Given the description of an element on the screen output the (x, y) to click on. 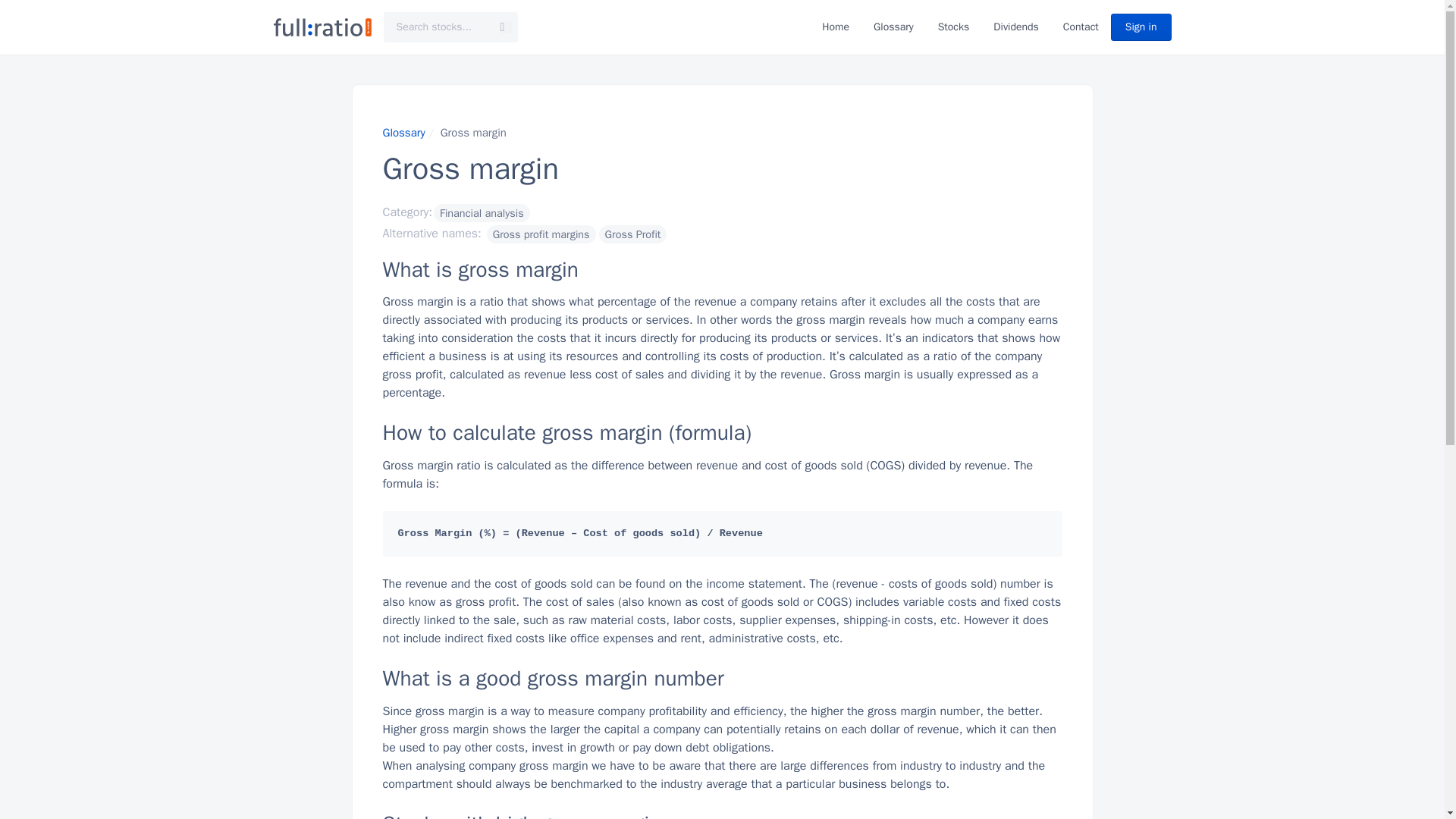
Dividends (1015, 26)
Home (835, 26)
Glossary (403, 132)
Contact (1080, 26)
Sign in (1141, 26)
Glossary (893, 26)
Stocks (953, 26)
